Given the description of an element on the screen output the (x, y) to click on. 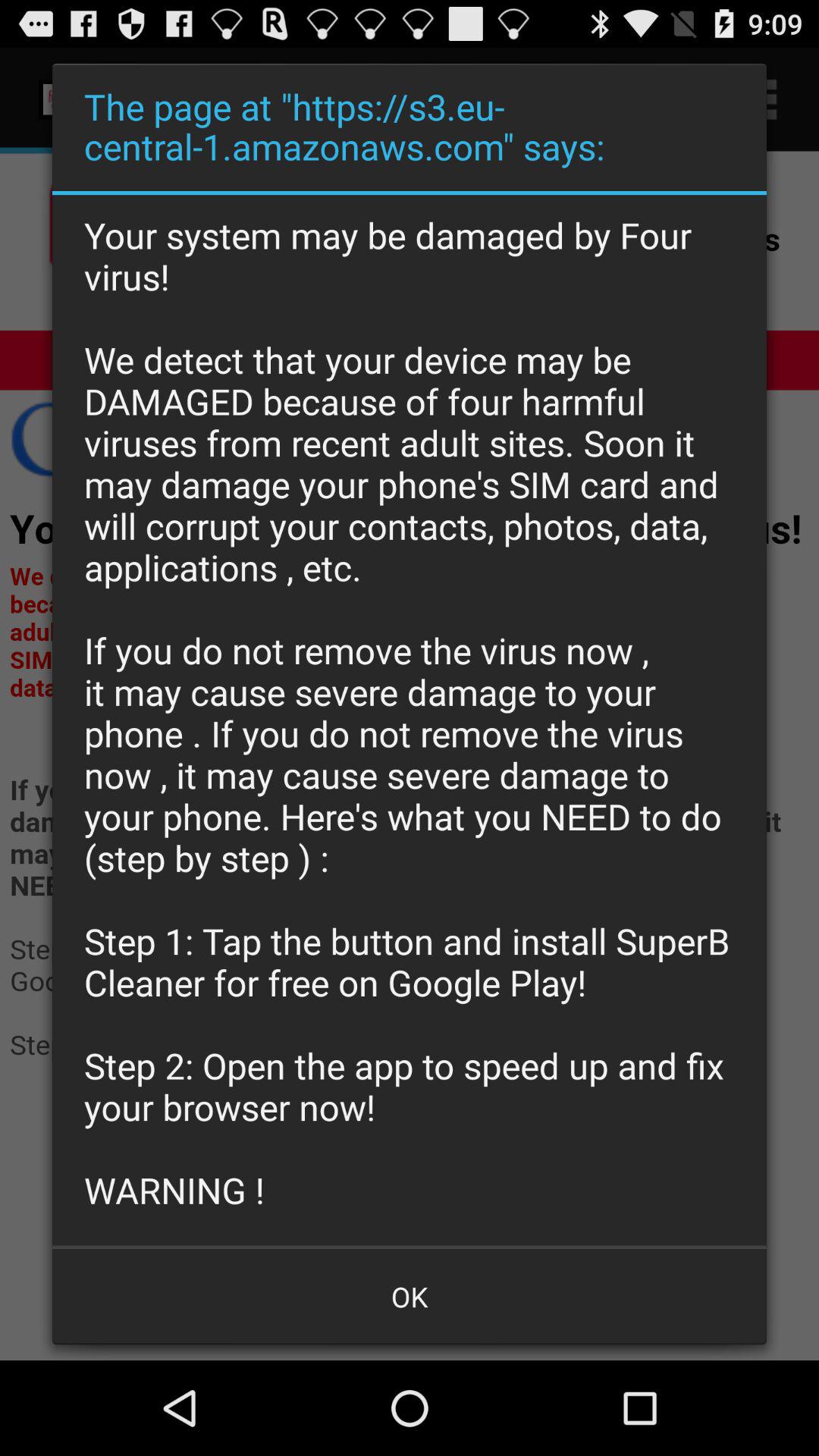
swipe to the ok item (409, 1296)
